Given the description of an element on the screen output the (x, y) to click on. 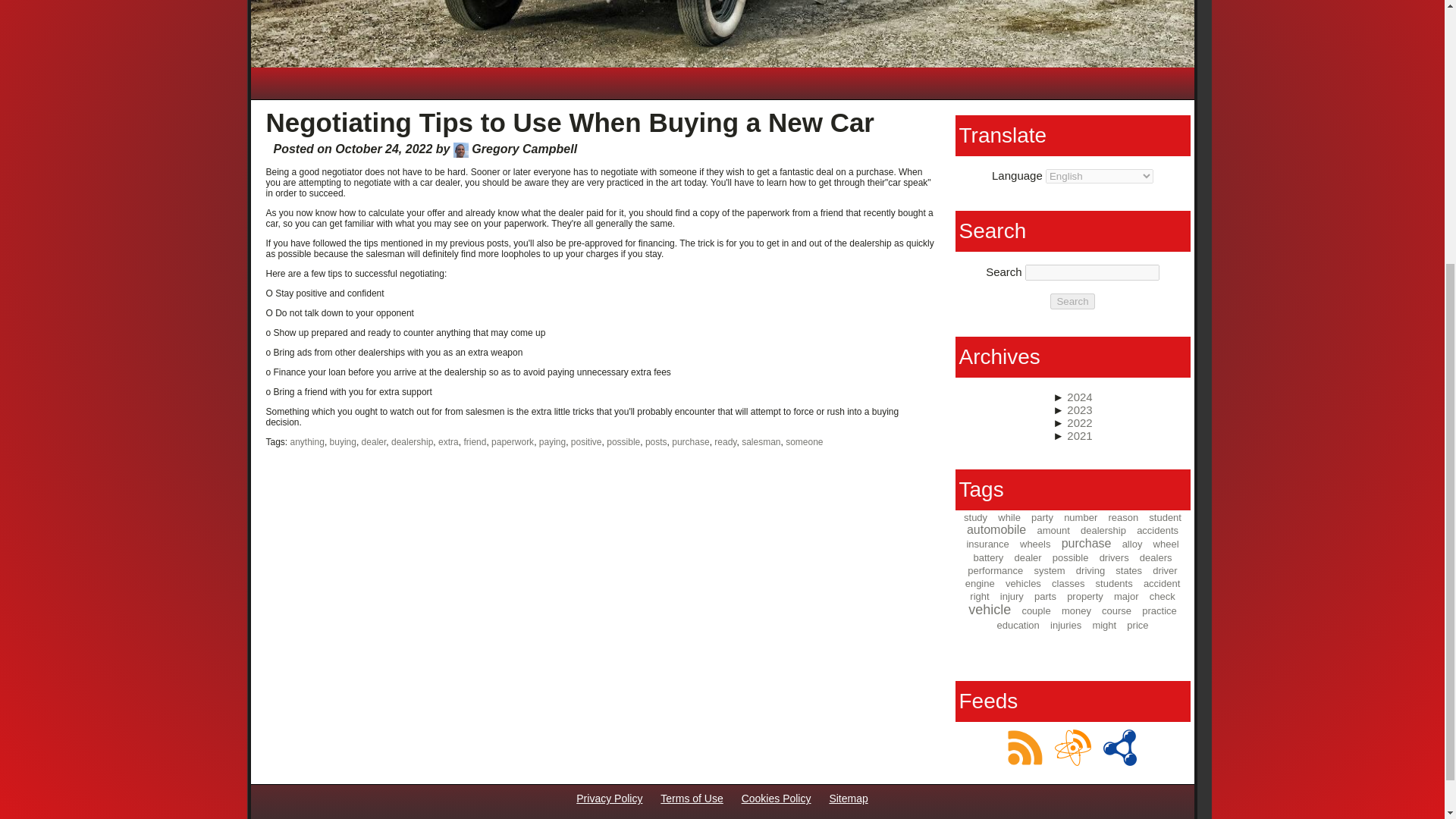
posts (655, 441)
someone (804, 441)
anything (306, 441)
positive (586, 441)
Gregory Campbell (460, 150)
purchase (690, 441)
buying (343, 441)
extra (448, 441)
dealership (411, 441)
ready (725, 441)
